Given the description of an element on the screen output the (x, y) to click on. 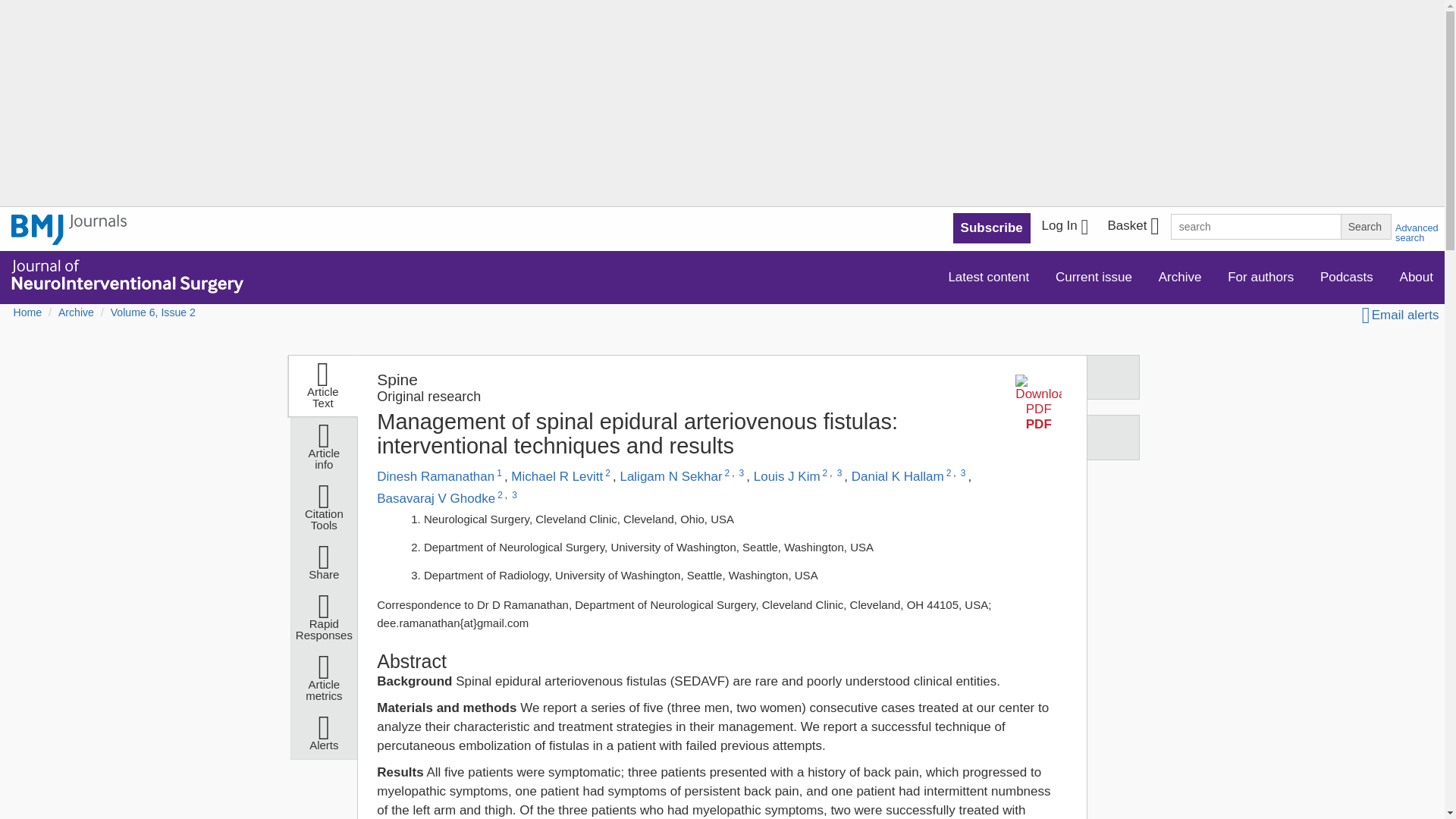
For authors (1259, 276)
Log In (1064, 228)
BMJ Journals (68, 229)
Archive (1179, 276)
Latest content (988, 276)
Search (1364, 226)
Basket (1132, 228)
Search (1364, 226)
BMJ Journals (68, 237)
Advanced search (1416, 232)
